Given the description of an element on the screen output the (x, y) to click on. 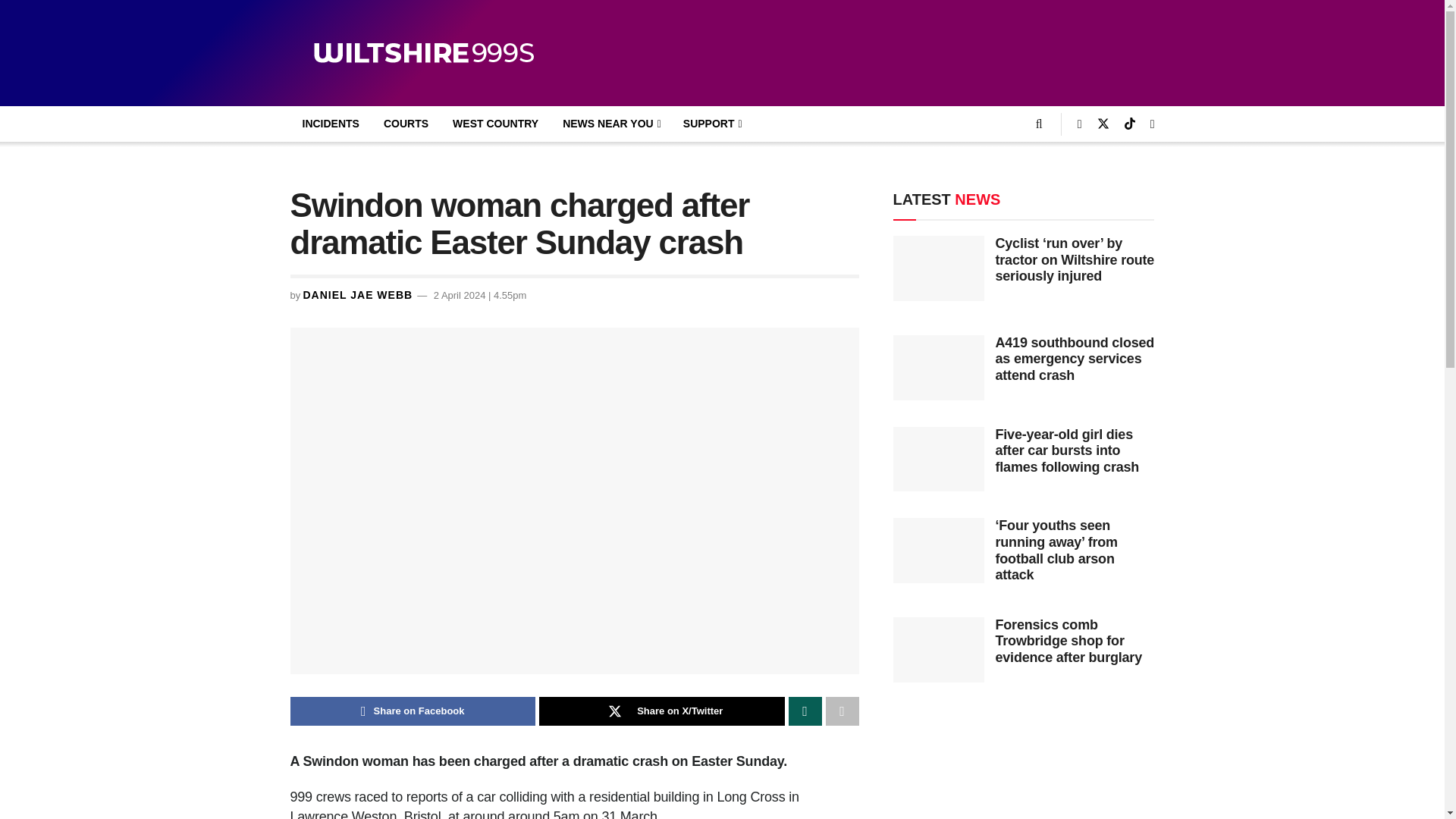
Share on Facebook (412, 710)
NEWS NEAR YOU (610, 123)
SUPPORT (711, 123)
COURTS (406, 123)
WEST COUNTRY (495, 123)
DANIEL JAE WEBB (357, 295)
INCIDENTS (330, 123)
